Given the description of an element on the screen output the (x, y) to click on. 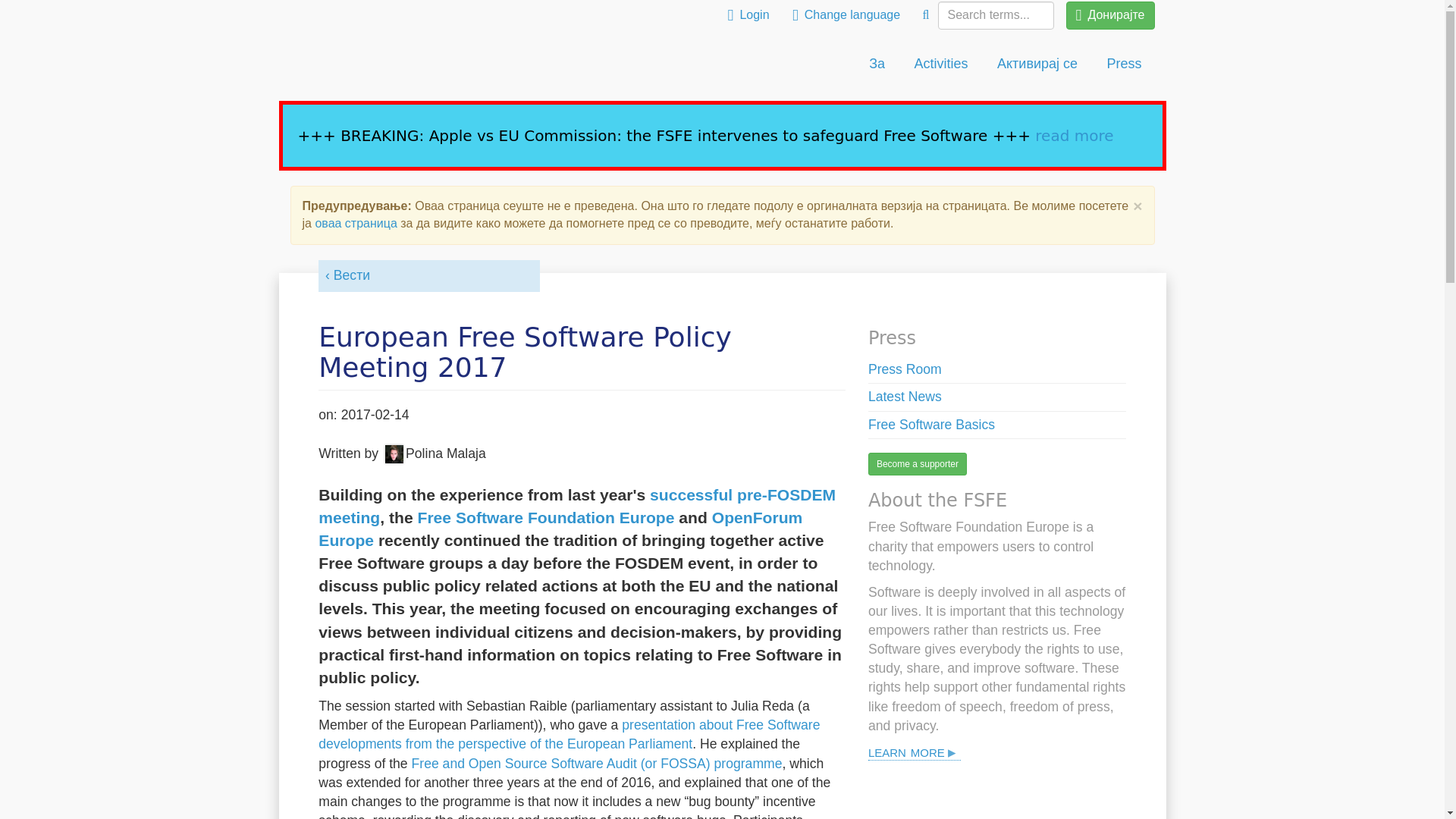
successful pre-FOSDEM meeting (576, 506)
Free Software Foundation Europe (545, 517)
OpenForum Europe (560, 528)
Press (1123, 63)
Activities (941, 63)
read more (1074, 135)
Press Room (904, 368)
Login (747, 15)
Change language (846, 15)
